Given the description of an element on the screen output the (x, y) to click on. 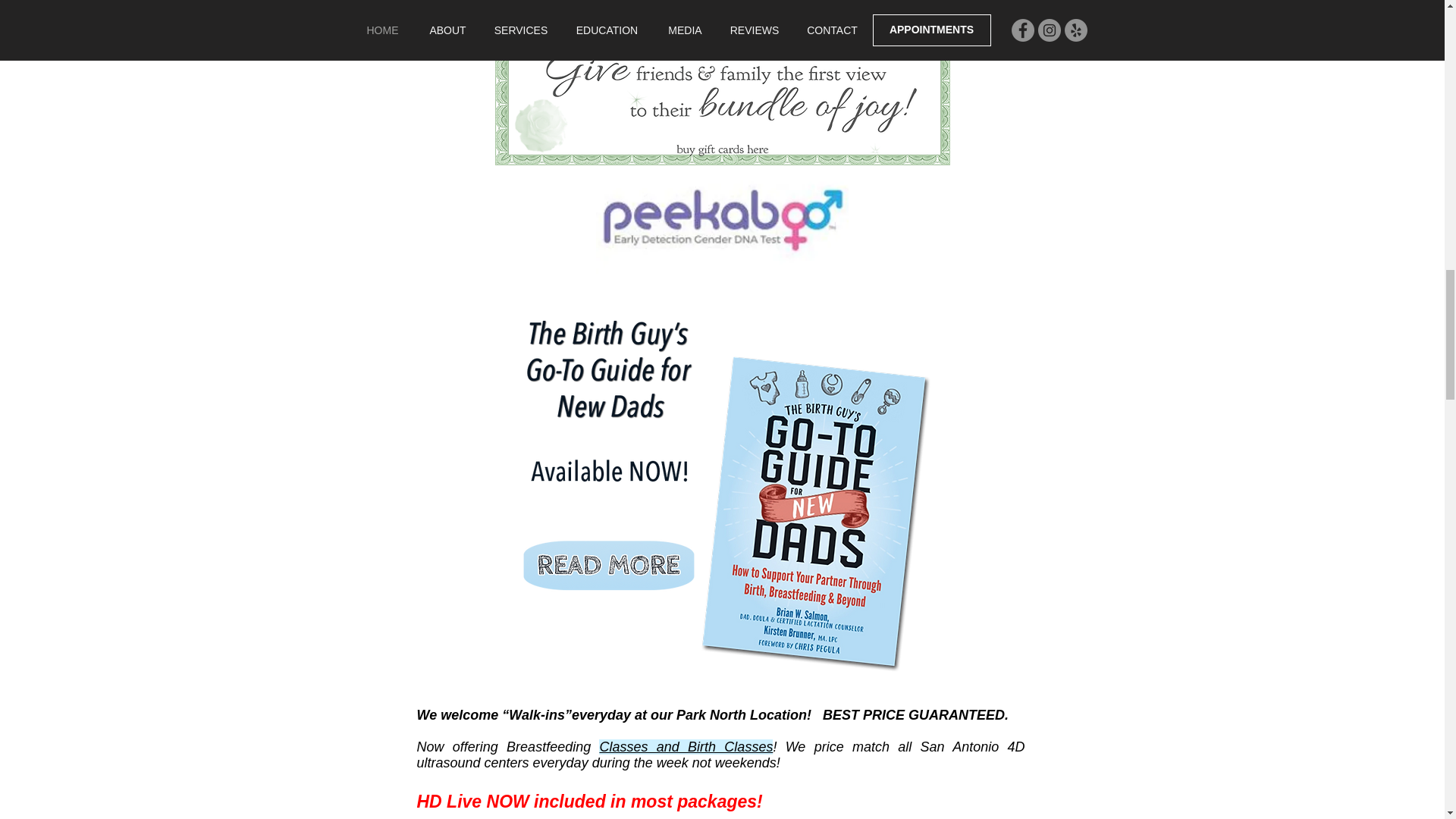
Classes and Birth Classes (685, 746)
